Given the description of an element on the screen output the (x, y) to click on. 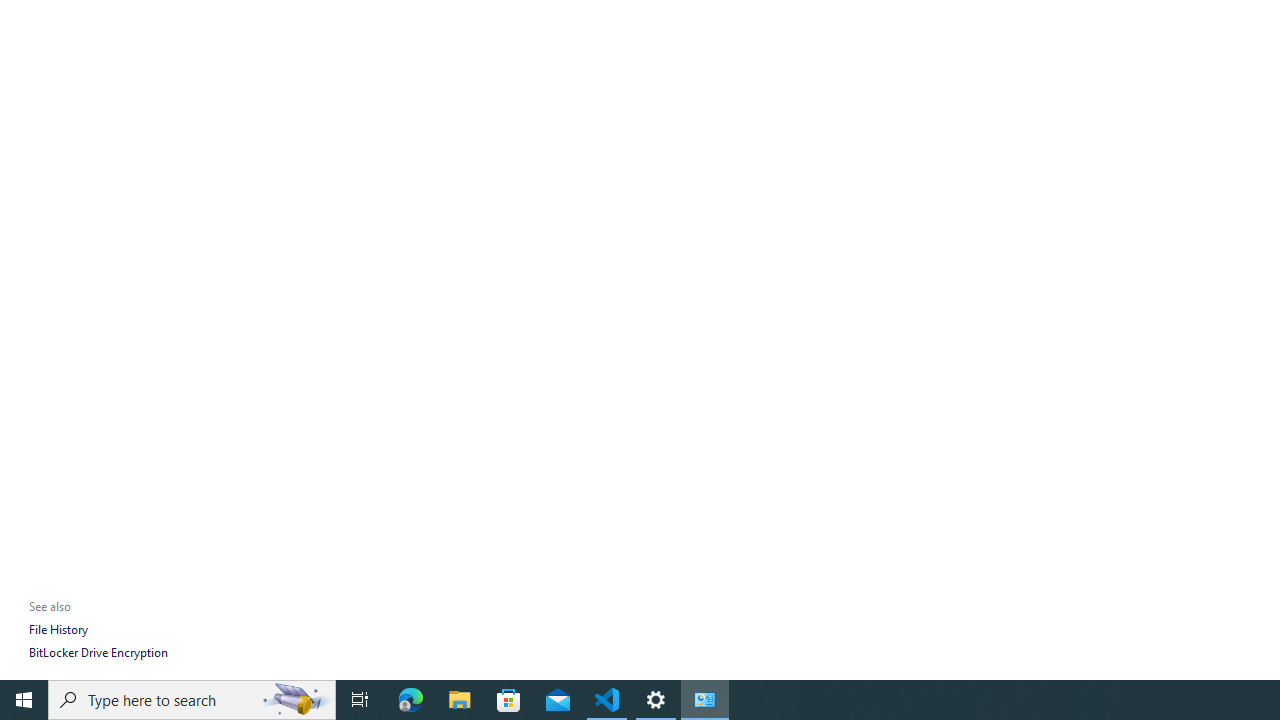
BitLocker Drive Encryption (98, 652)
Control Panel - 1 running window (704, 699)
Settings - 1 running window (656, 699)
File History (57, 629)
